Given the description of an element on the screen output the (x, y) to click on. 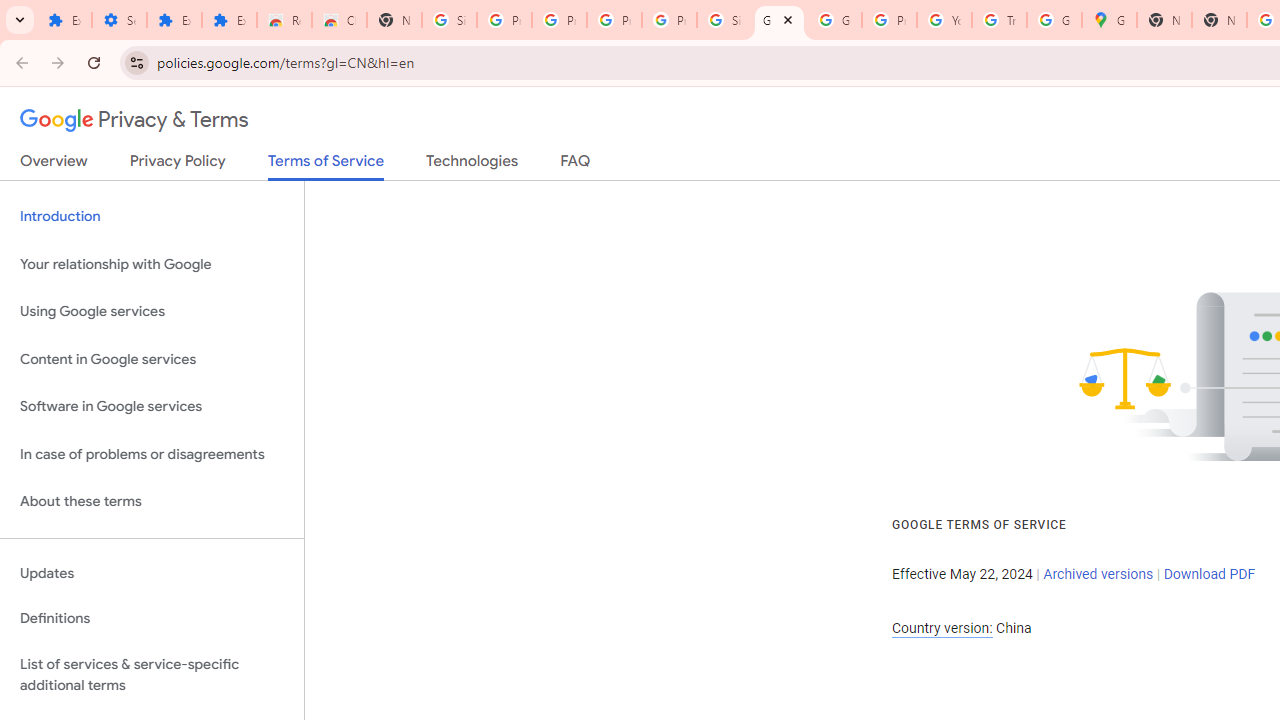
New Tab (394, 20)
Sign in - Google Accounts (449, 20)
In case of problems or disagreements (152, 453)
Reviews: Helix Fruit Jump Arcade Game (284, 20)
Updates (152, 573)
Google Maps (1108, 20)
Extensions (174, 20)
Sign in - Google Accounts (724, 20)
